Given the description of an element on the screen output the (x, y) to click on. 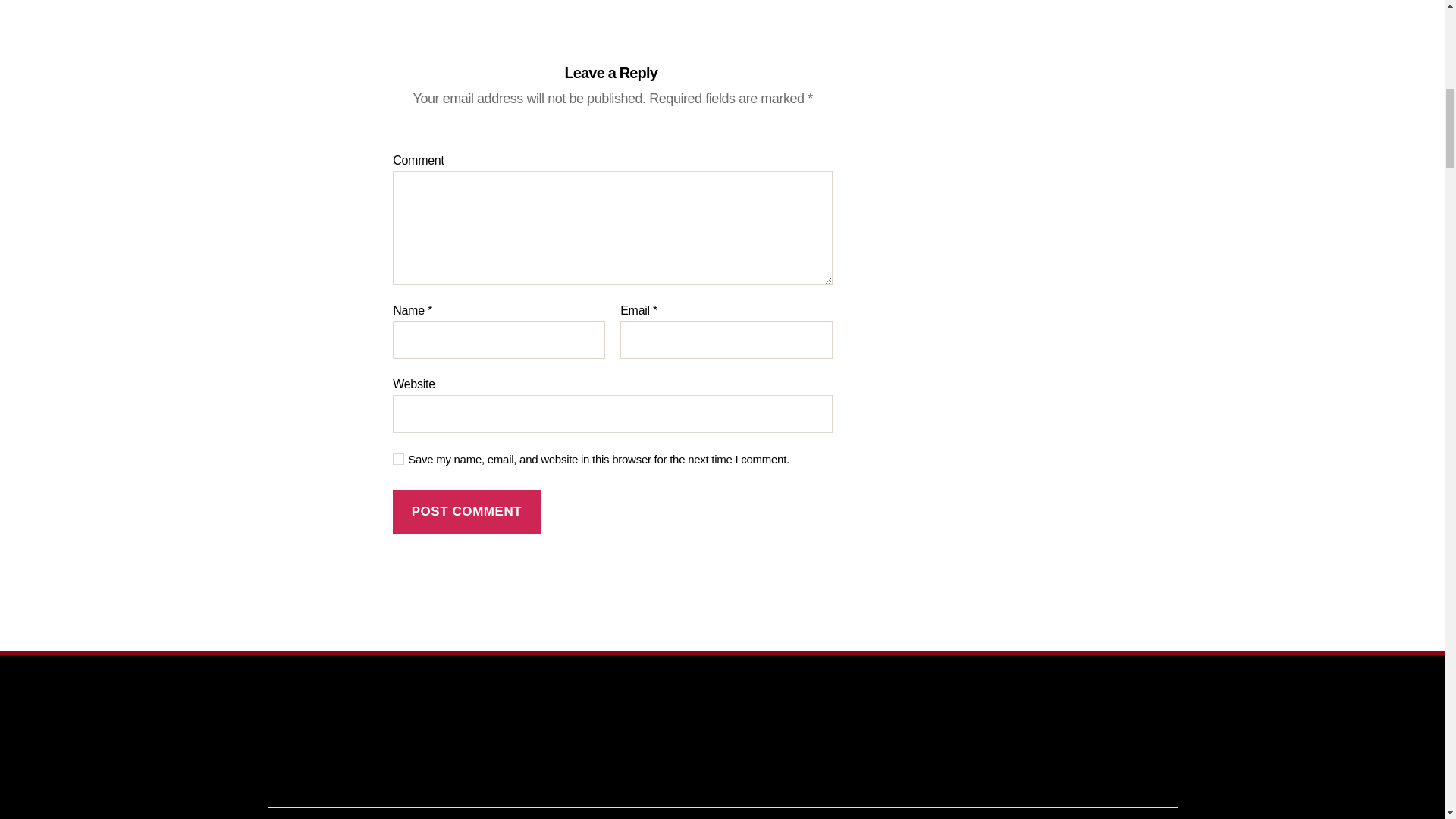
Post Comment (466, 511)
yes (398, 459)
Post Comment (466, 511)
